Given the description of an element on the screen output the (x, y) to click on. 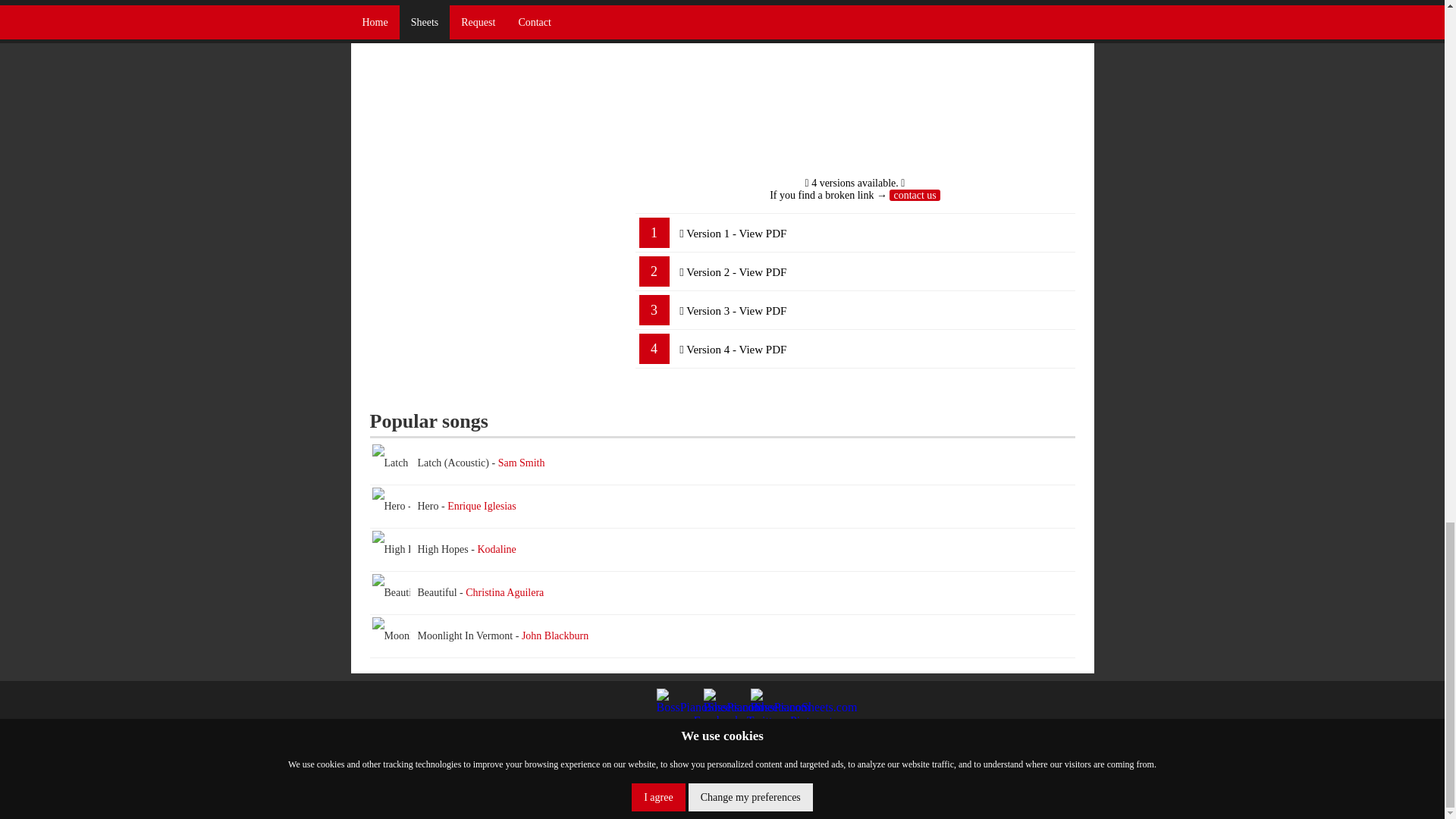
Beautiful - Christina Aguilera (434, 592)
BossPianoSheets.com (785, 799)
Hero - Enrique Iglesias (722, 506)
High Hopes - Kodaline (722, 549)
BossPianoSheets.com on Twitter (722, 707)
contact us (914, 194)
Beautiful - Christina Aguilera (722, 593)
BossPianoSheets.com on Facebook (675, 707)
Hero - Enrique Iglesias  (420, 506)
Moonlight In Vermont - John Blackburn (722, 636)
BossPianoSheets.com on Pinterest (770, 707)
Moonlight In Vermont - John Blackburn (457, 636)
High Hopes - Kodaline (420, 549)
